Given the description of an element on the screen output the (x, y) to click on. 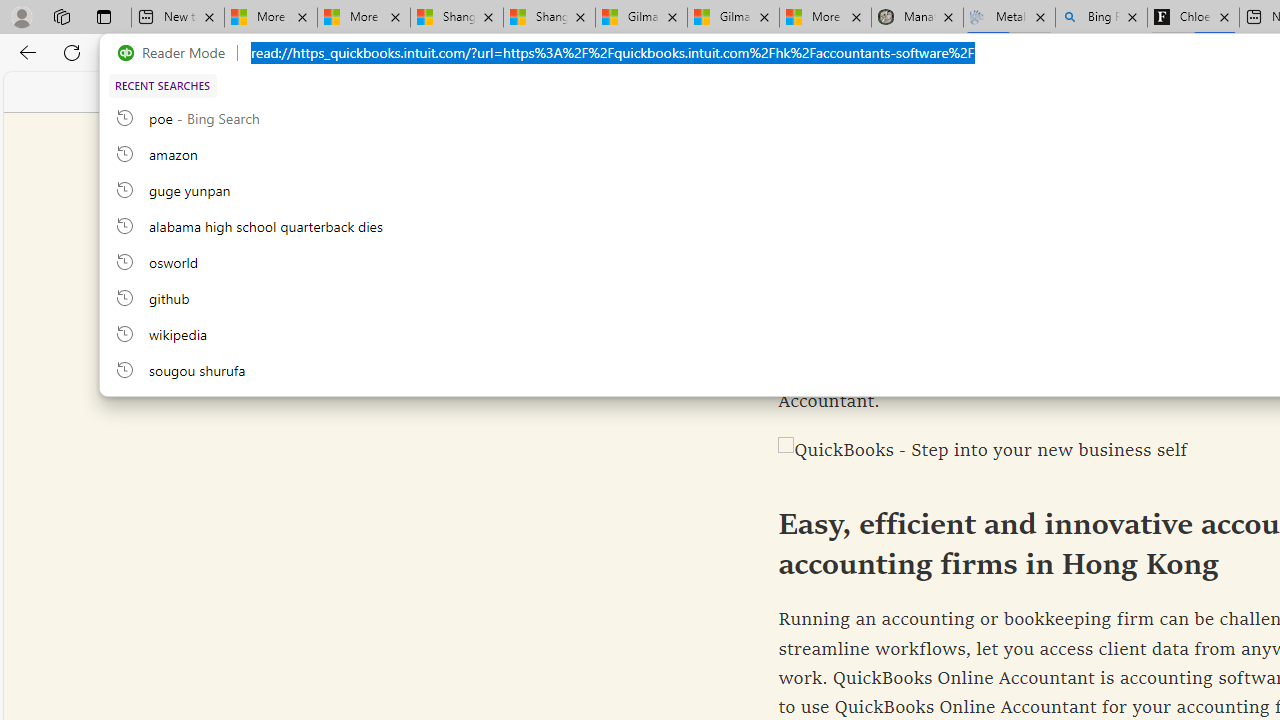
Shanghai, China weather forecast | Microsoft Weather (549, 17)
